Given the description of an element on the screen output the (x, y) to click on. 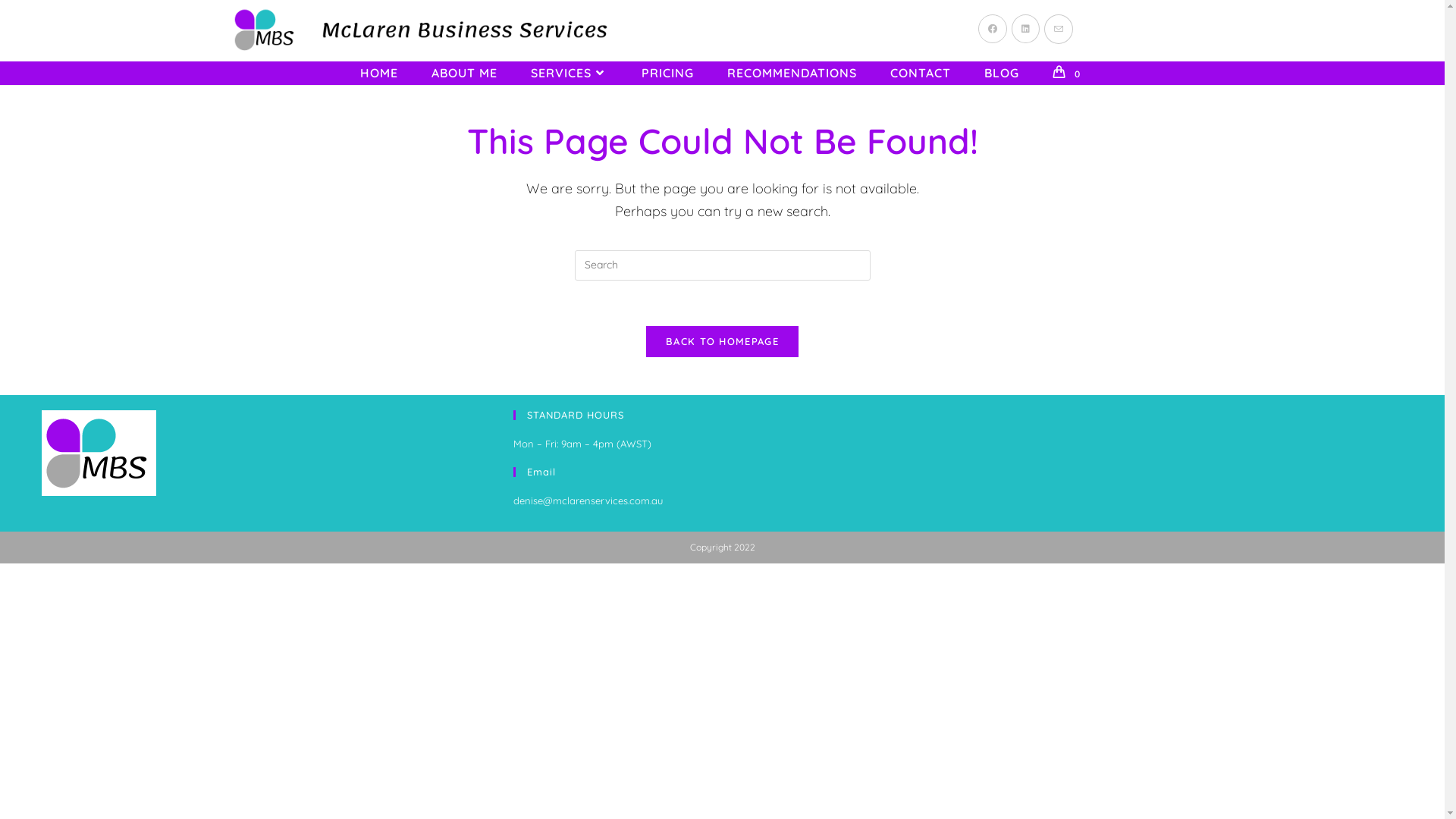
RECOMMENDATIONS Element type: text (791, 72)
0 Element type: text (1068, 72)
PRICING Element type: text (667, 72)
ABOUT ME Element type: text (464, 72)
denise@mclarenservices.com.au Element type: text (587, 500)
HOME Element type: text (378, 72)
CONTACT Element type: text (920, 72)
SERVICES Element type: text (569, 72)
BACK TO HOMEPAGE Element type: text (722, 341)
BLOG Element type: text (1001, 72)
